Given the description of an element on the screen output the (x, y) to click on. 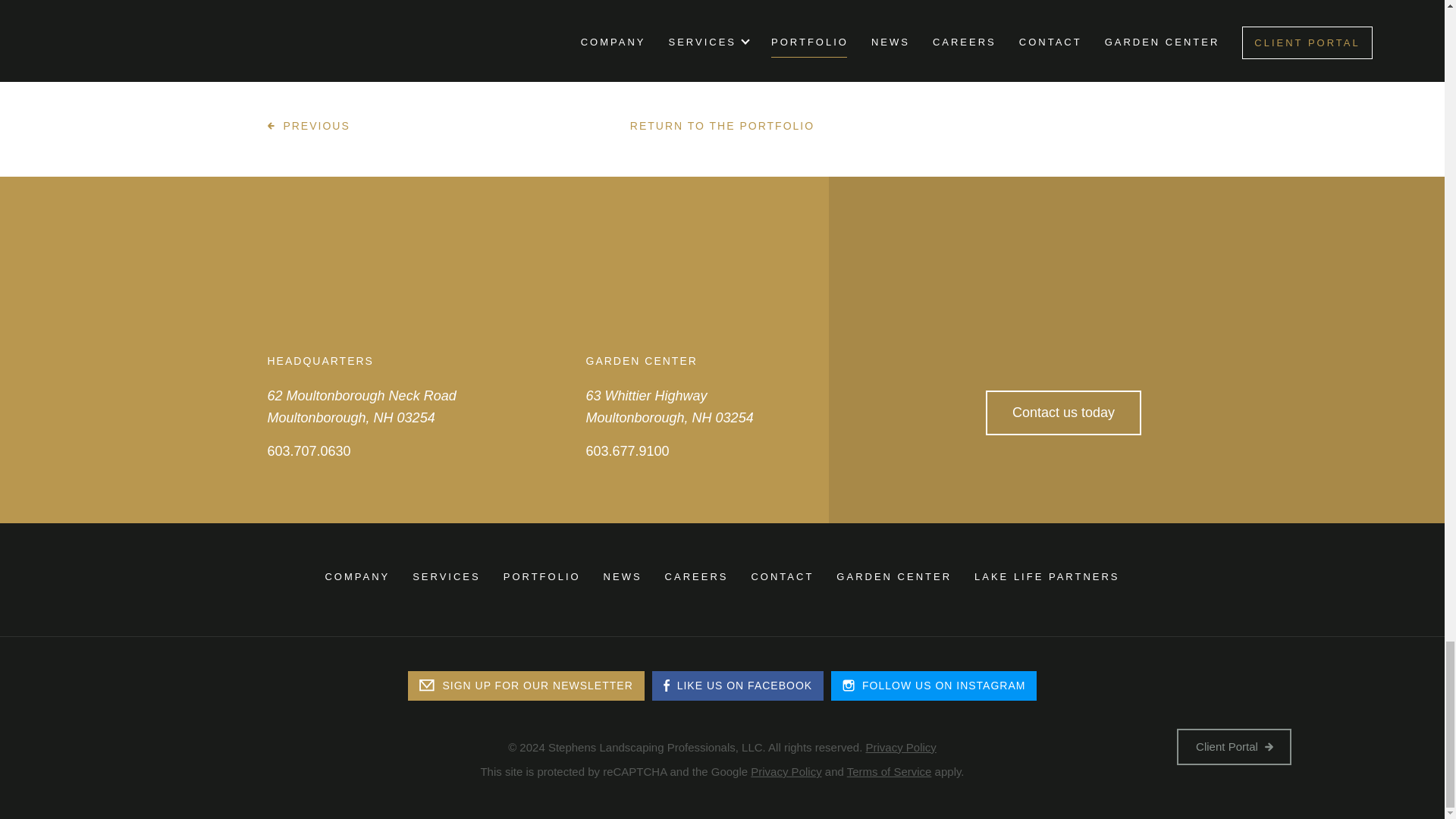
RETURN TO THE PORTFOLIO (721, 125)
Call Stephens Landscaping Professionals Headquarters (308, 451)
FOLLOW US ON INSTAGRAM (933, 685)
Terms of Service (889, 771)
Like us on Facebook (738, 685)
CAREERS (697, 576)
SERVICES (446, 576)
Privacy Policy (900, 747)
Contact us today (1063, 412)
COMPANY (357, 576)
